Given the description of an element on the screen output the (x, y) to click on. 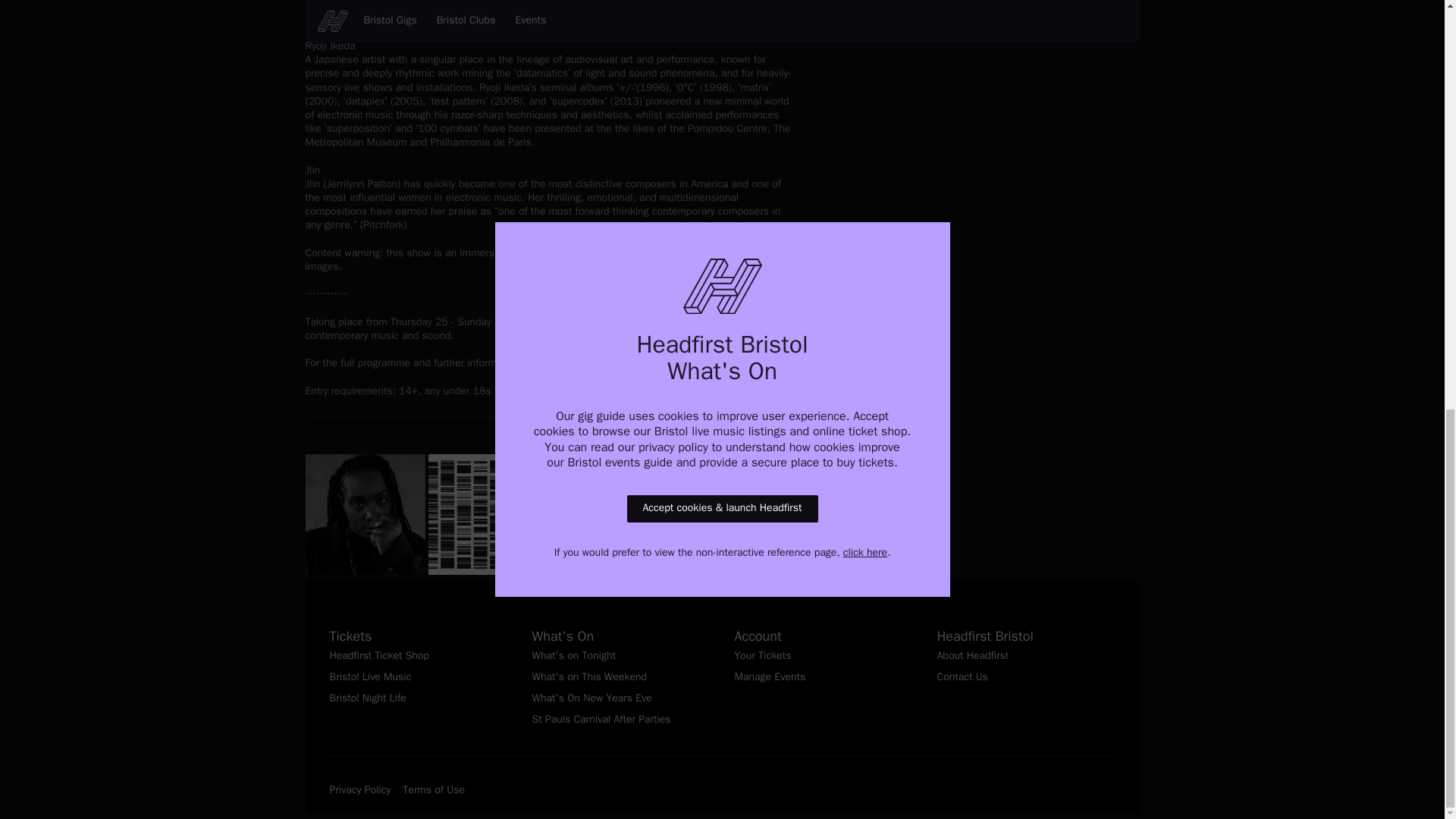
What's on Tonight (621, 656)
Bristol Night Life (417, 699)
St Pauls Carnival After Parties (621, 720)
www.bristolnewmusic.org (606, 363)
Manage Events (822, 677)
Your Tickets (822, 656)
Contact Us (1026, 677)
About Headfirst (1026, 656)
What's On New Years Eve (621, 699)
What's on This Weekend (621, 677)
Bristol Live Music (417, 677)
Privacy Policy (359, 790)
Headfirst Ticket Shop (417, 656)
Terms of Use (433, 790)
